Given the description of an element on the screen output the (x, y) to click on. 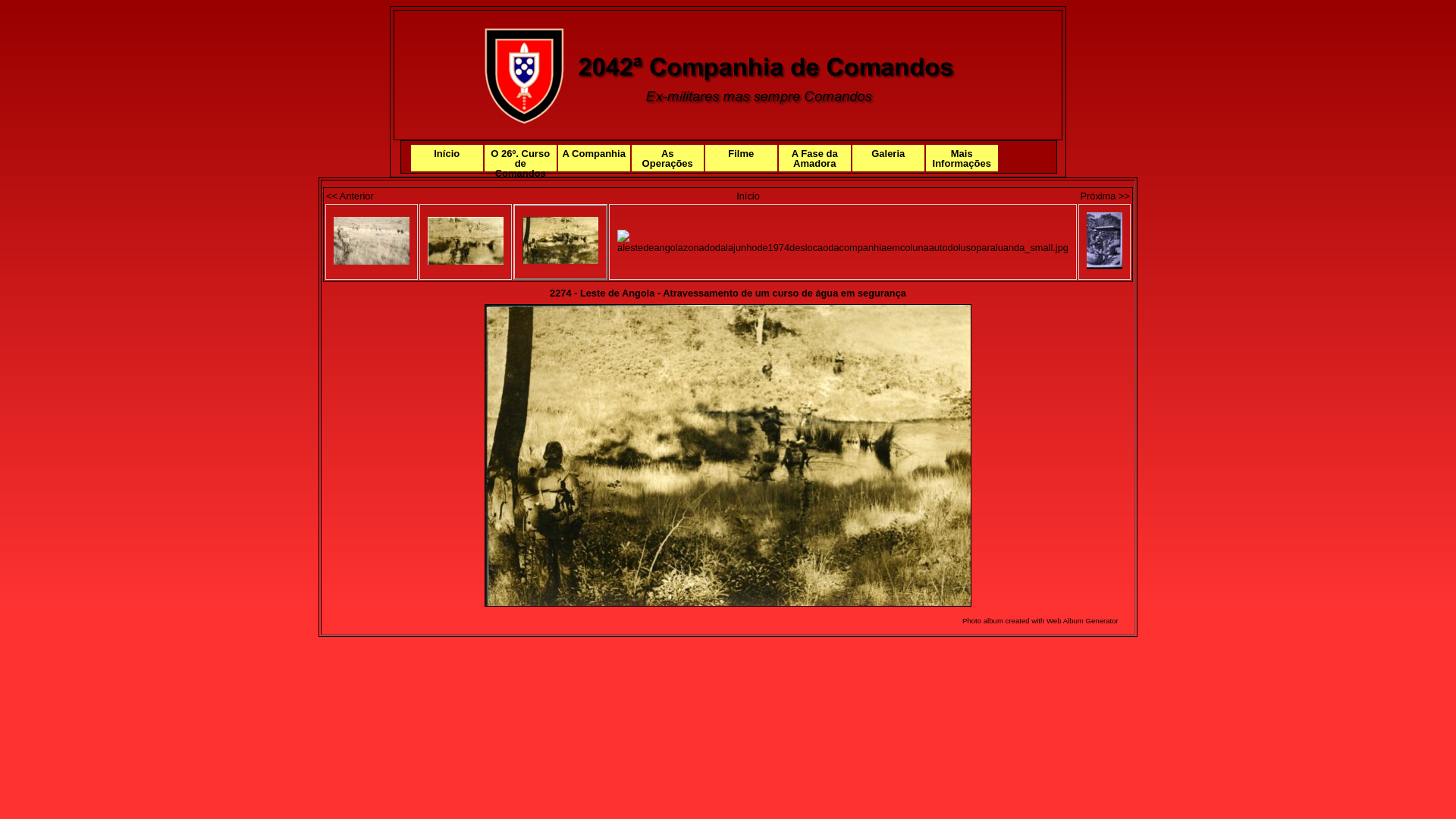
Web Album Generator Element type: text (1082, 620)
<< Anterior Element type: text (349, 195)
A Fase da Amadora Element type: text (814, 157)
Galeria Element type: text (888, 157)
Filme Element type: text (741, 157)
A Companhia Element type: text (594, 157)
